Given the description of an element on the screen output the (x, y) to click on. 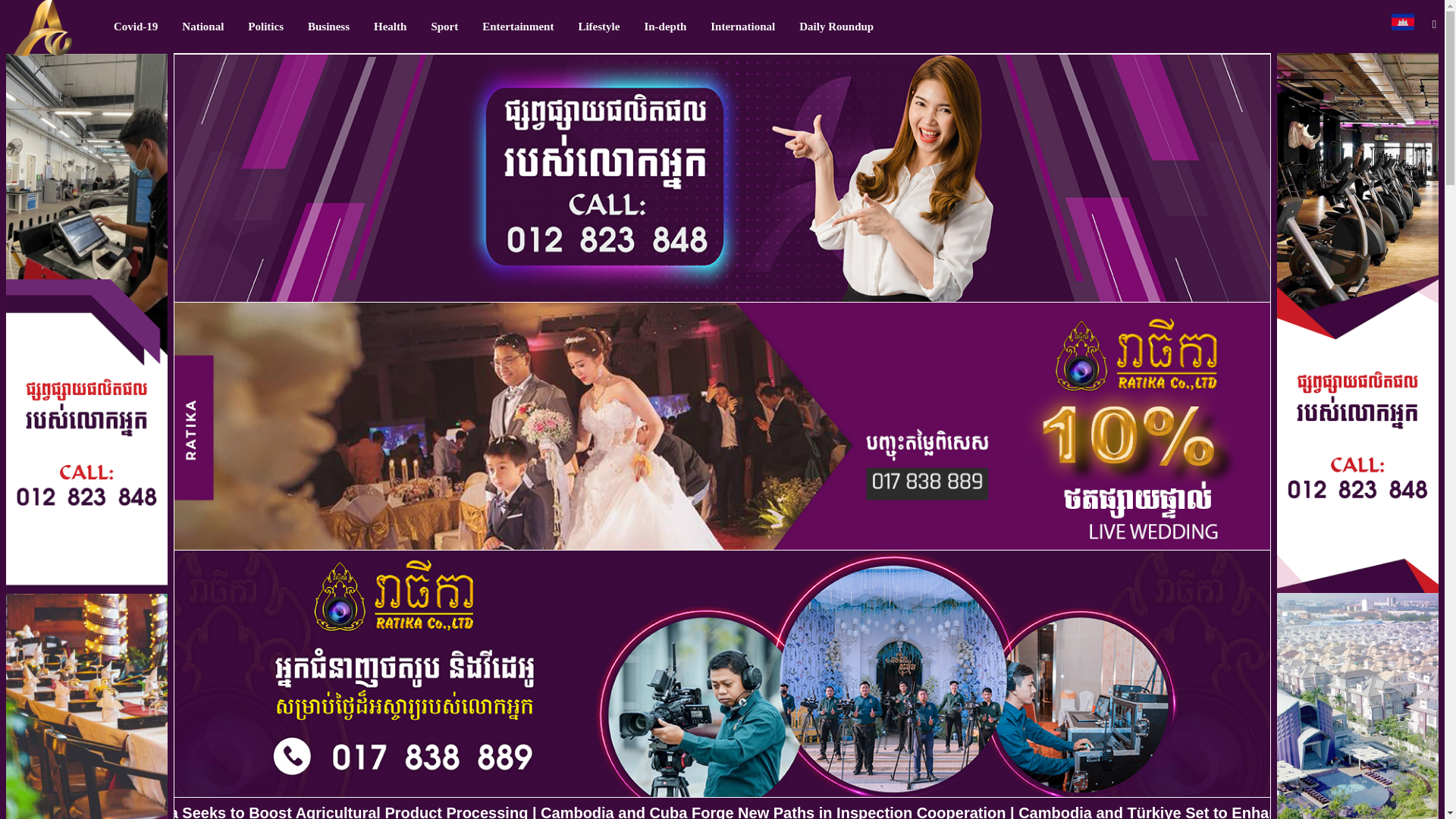
Entertainment (518, 27)
National (202, 27)
Covid-19 (135, 27)
Sport (444, 27)
Politics (265, 27)
Business (328, 27)
Lifestyle (598, 27)
In-depth (664, 27)
Health (390, 27)
